Given the description of an element on the screen output the (x, y) to click on. 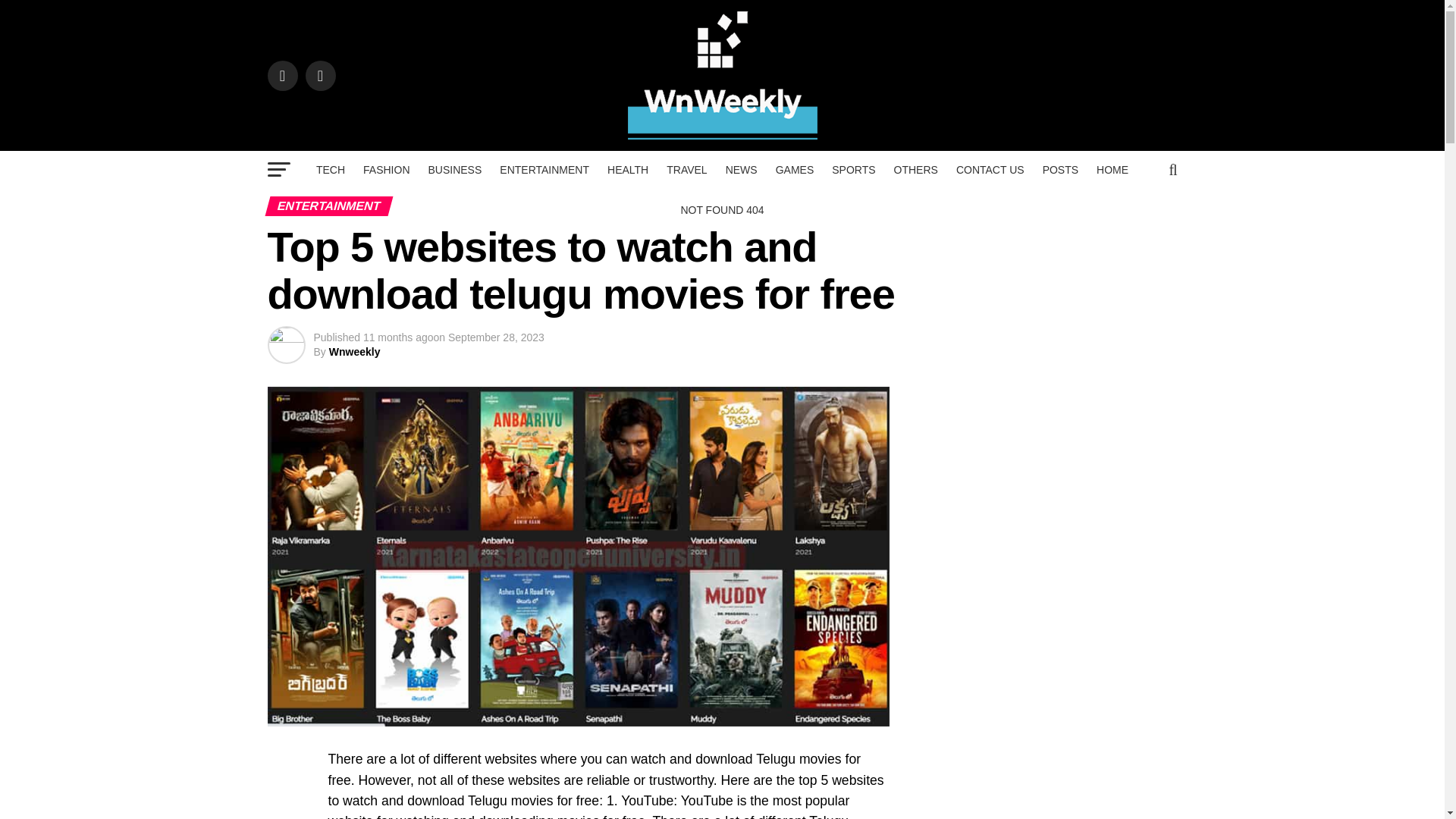
HEALTH (628, 169)
BUSINESS (454, 169)
TECH (330, 169)
Posts by Wnweekly (354, 351)
ENTERTAINMENT (544, 169)
FASHION (386, 169)
